Given the description of an element on the screen output the (x, y) to click on. 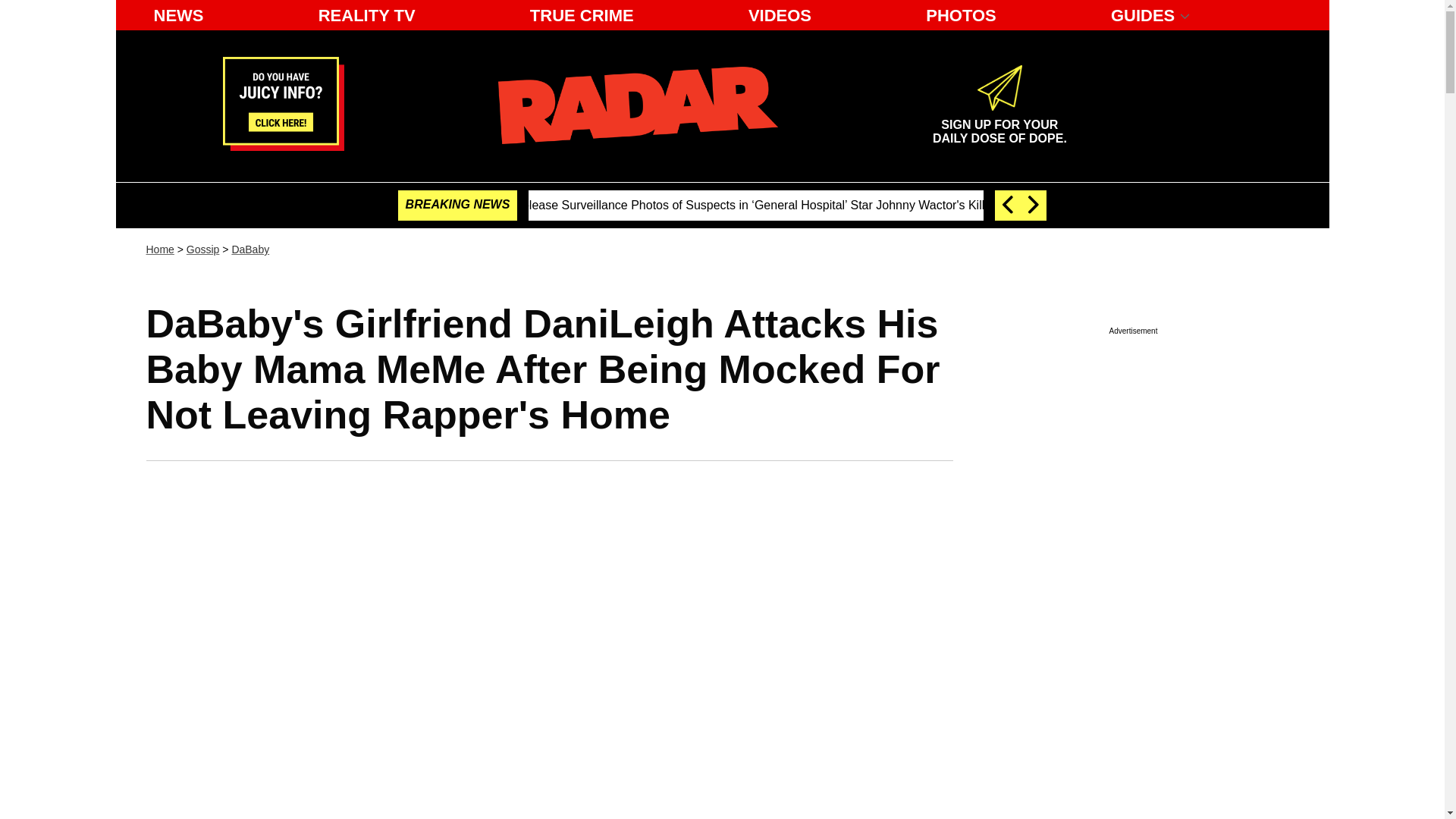
Radar Online (637, 105)
NEWS (178, 15)
PHOTOS (961, 15)
DaBaby (250, 249)
REALITY TV (367, 15)
Sign up for your daily dose of dope. (999, 124)
Email us your tip (282, 146)
Gossip (999, 124)
TRUE CRIME (202, 249)
